Given the description of an element on the screen output the (x, y) to click on. 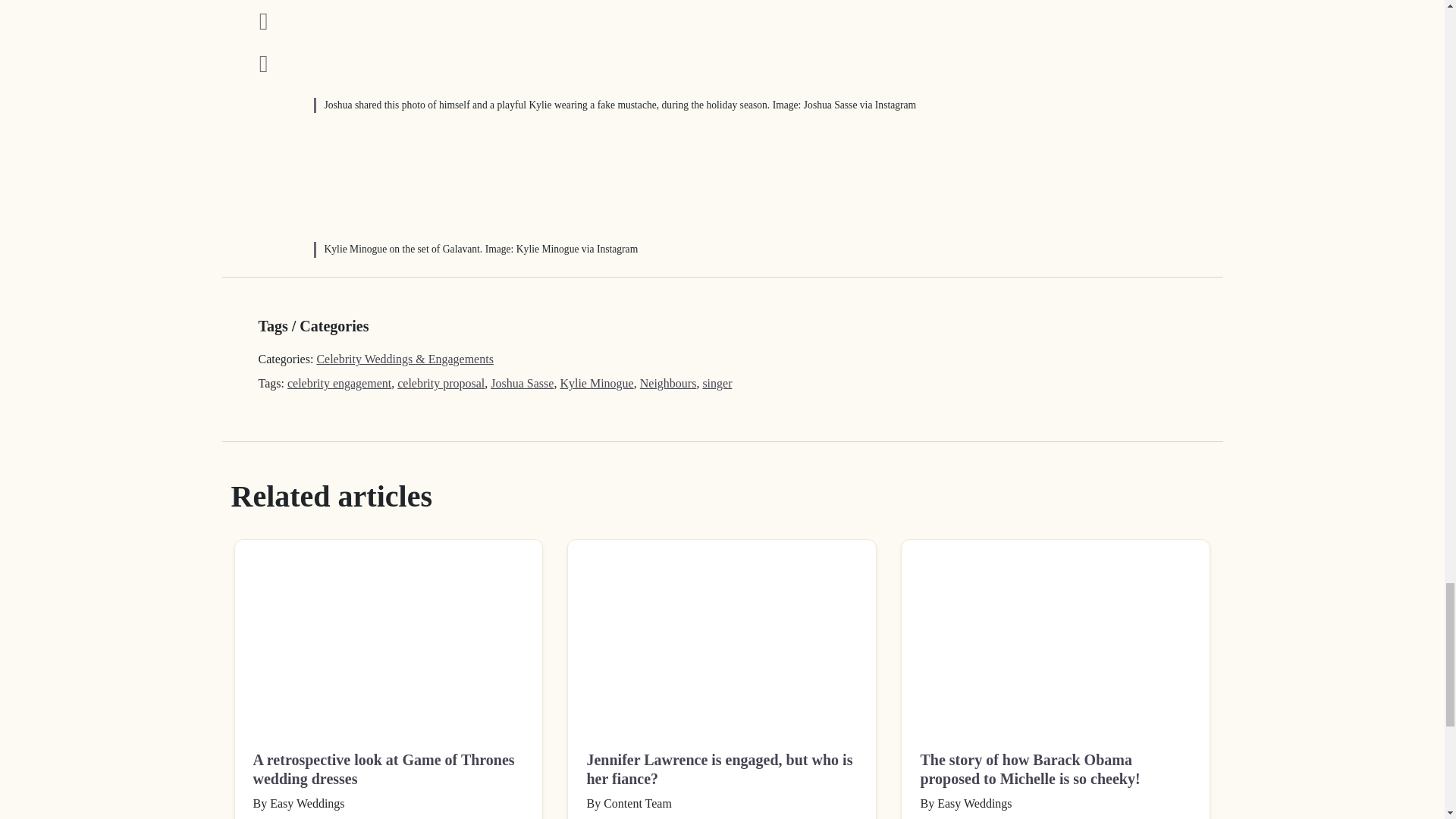
A retrospective look at Game of Thrones wedding dresses (388, 635)
Holiday bling or engagement ring: is Kylie getting married? (371, 45)
singer (716, 382)
celebrity engagement (338, 382)
celebrity proposal (440, 382)
A retrospective look at Game of Thrones wedding dresses (388, 769)
A retrospective look at Game of Thrones wedding dresses (388, 769)
Joshua Sasse (521, 382)
Neighbours (668, 382)
Jennifer Lawrence is engaged, but who is her fiance? (721, 635)
Kylie Minogue (596, 382)
